Given the description of an element on the screen output the (x, y) to click on. 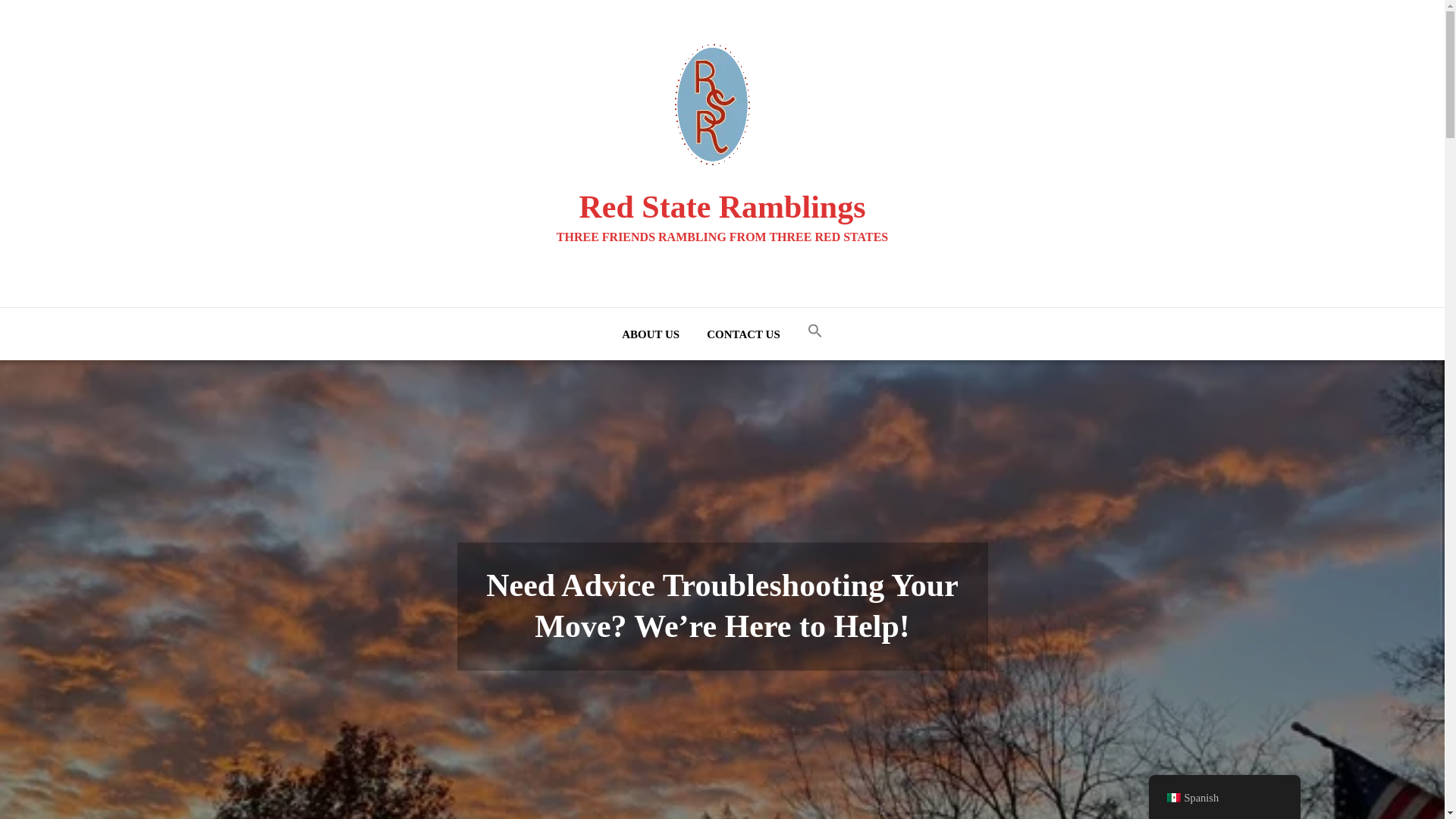
ABOUT US (650, 334)
CONTACT US (743, 334)
Red State Ramblings (721, 206)
Spanish (1172, 797)
